Given the description of an element on the screen output the (x, y) to click on. 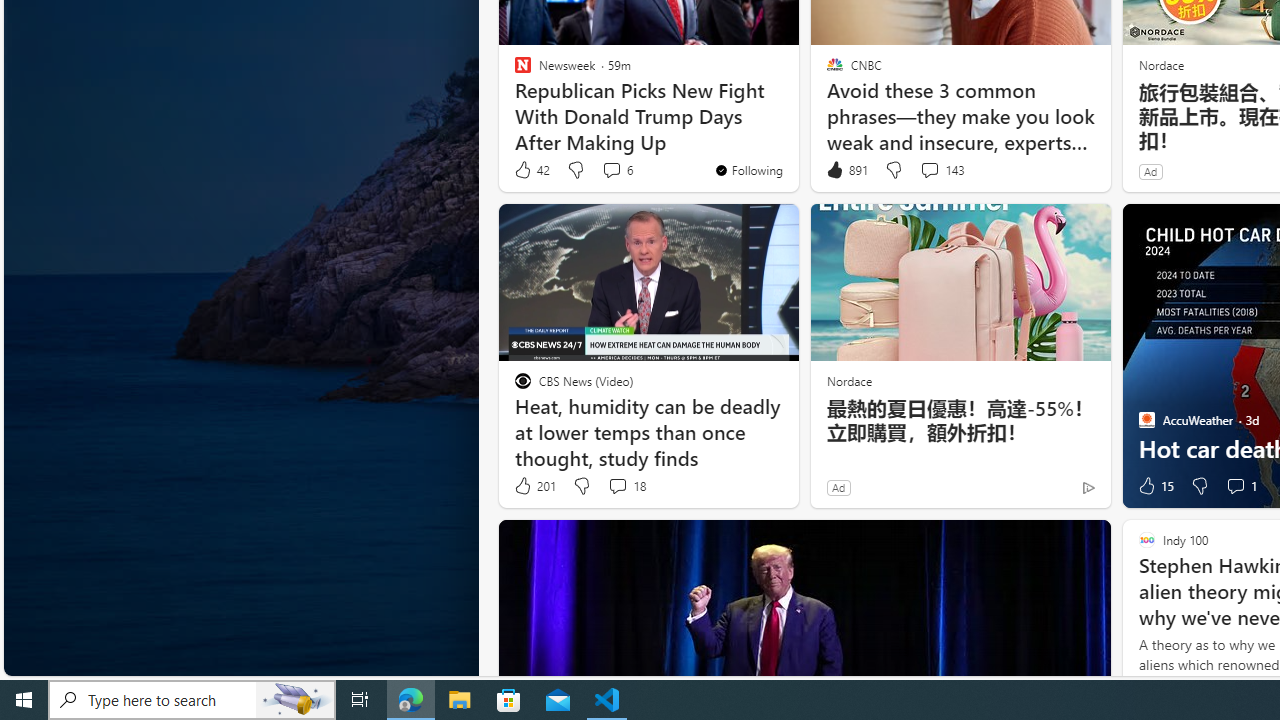
You're following Newsweek (747, 169)
15 Like (1154, 485)
